Given the description of an element on the screen output the (x, y) to click on. 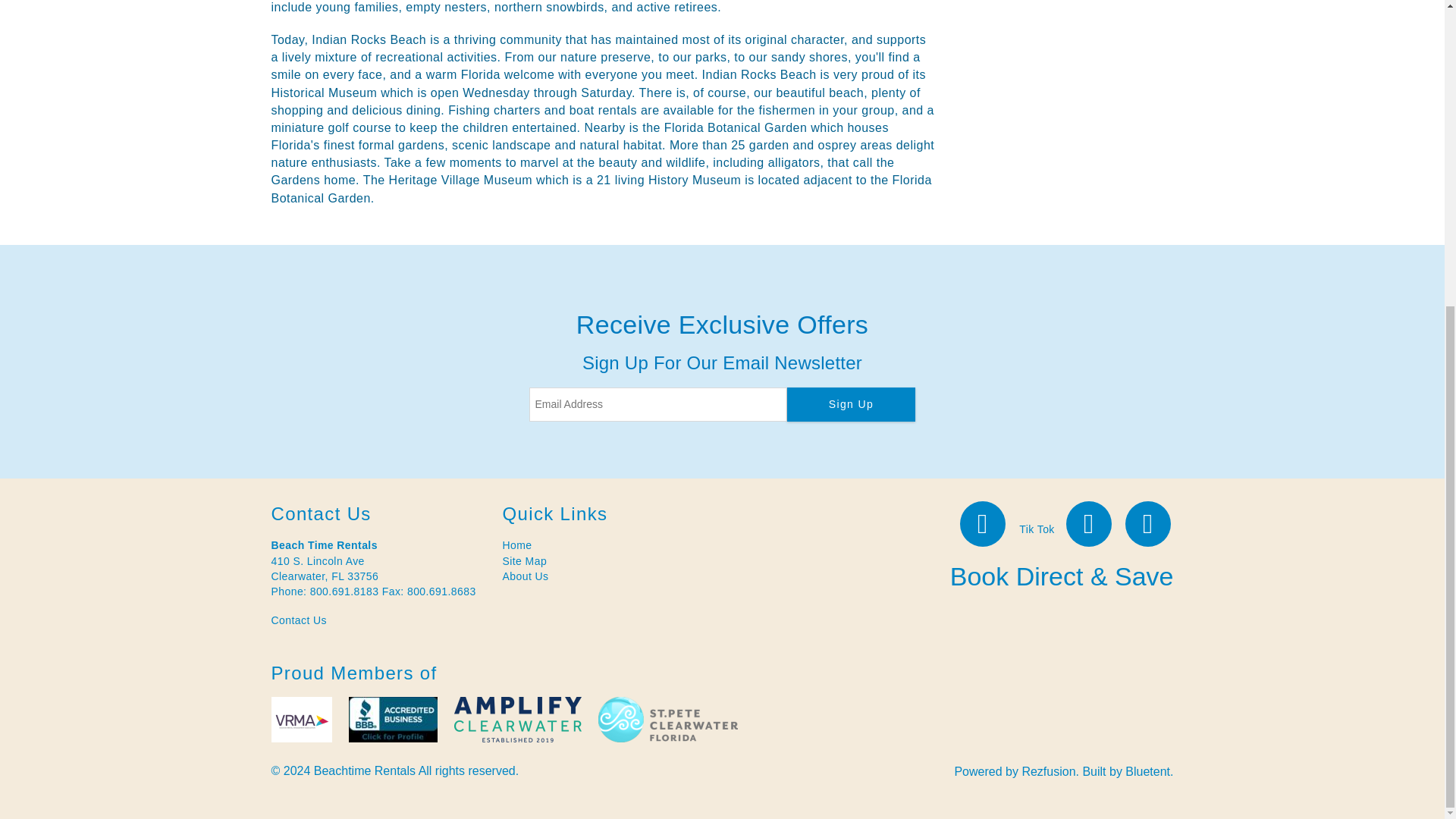
Amplify Clearwater (516, 719)
BBB (393, 719)
Beach Time Rentals - VRMA Partner (300, 719)
Visit St. Pete Clearwater (666, 719)
